Given the description of an element on the screen output the (x, y) to click on. 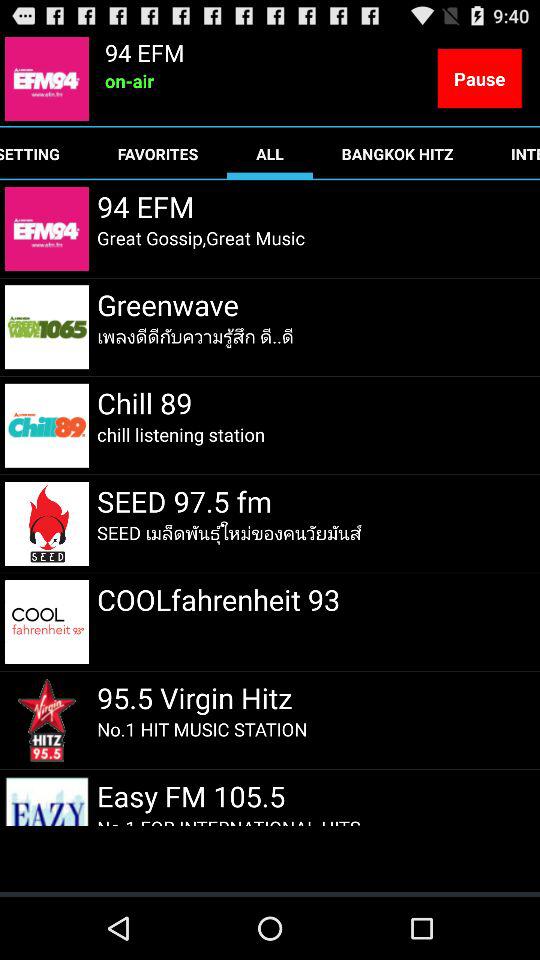
press all item (269, 153)
